Given the description of an element on the screen output the (x, y) to click on. 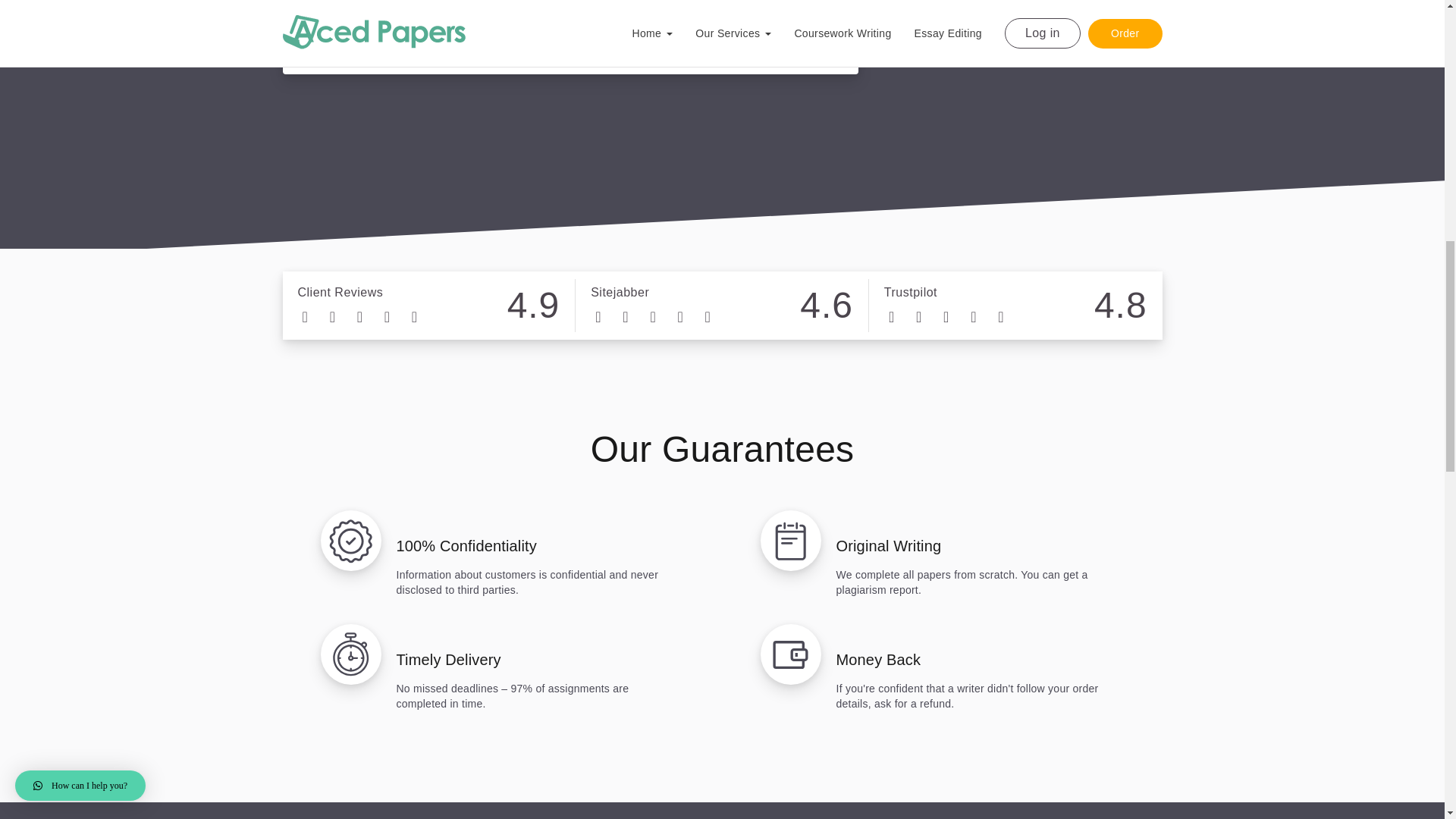
Hire a Writer (570, 18)
